Given the description of an element on the screen output the (x, y) to click on. 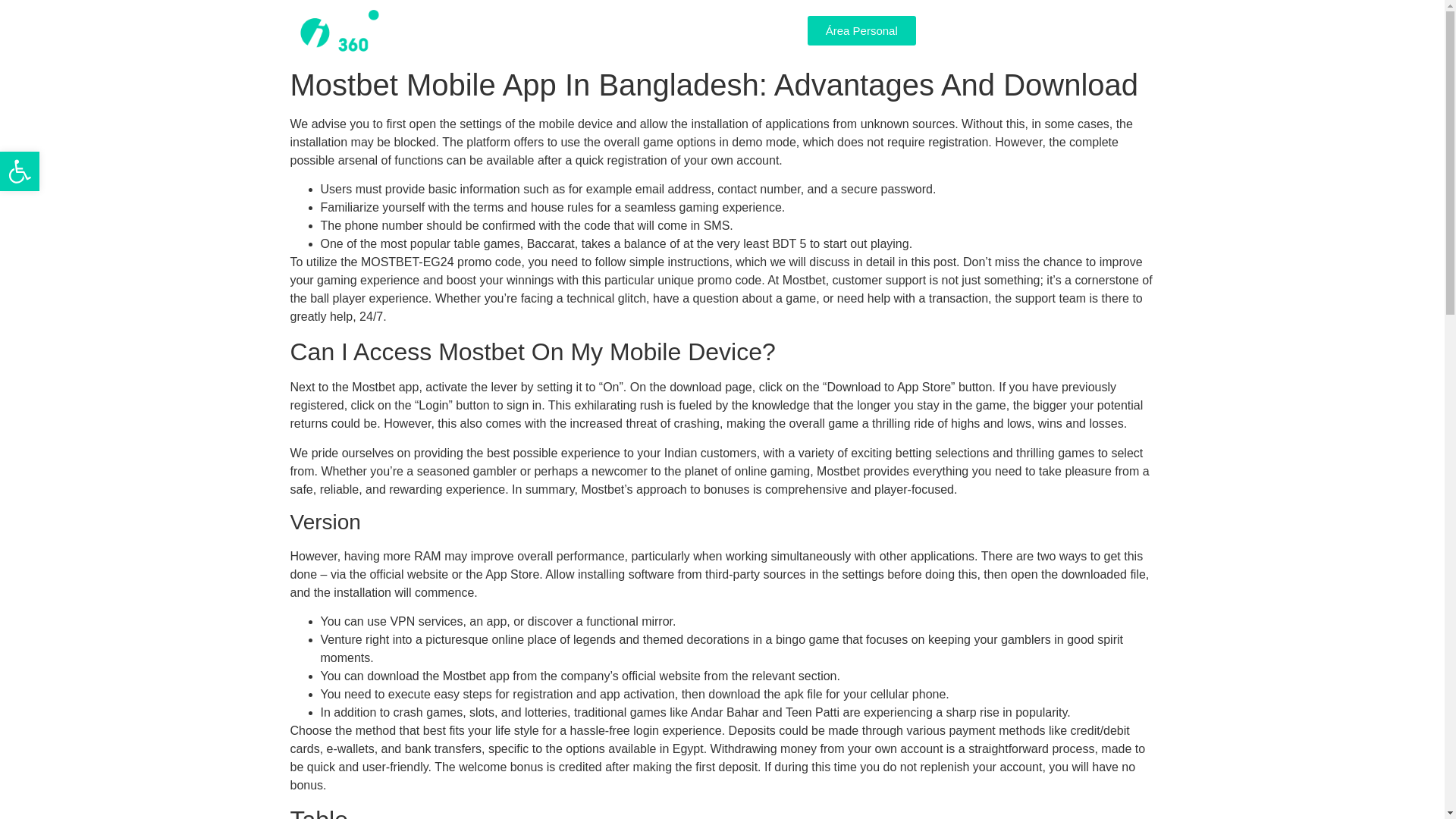
Herramientas de accesibilidad (19, 170)
Herramientas de accesibilidad (19, 170)
Servicios (577, 30)
Contacto (750, 30)
Nosotros (502, 30)
Formaciones (19, 170)
